Given the description of an element on the screen output the (x, y) to click on. 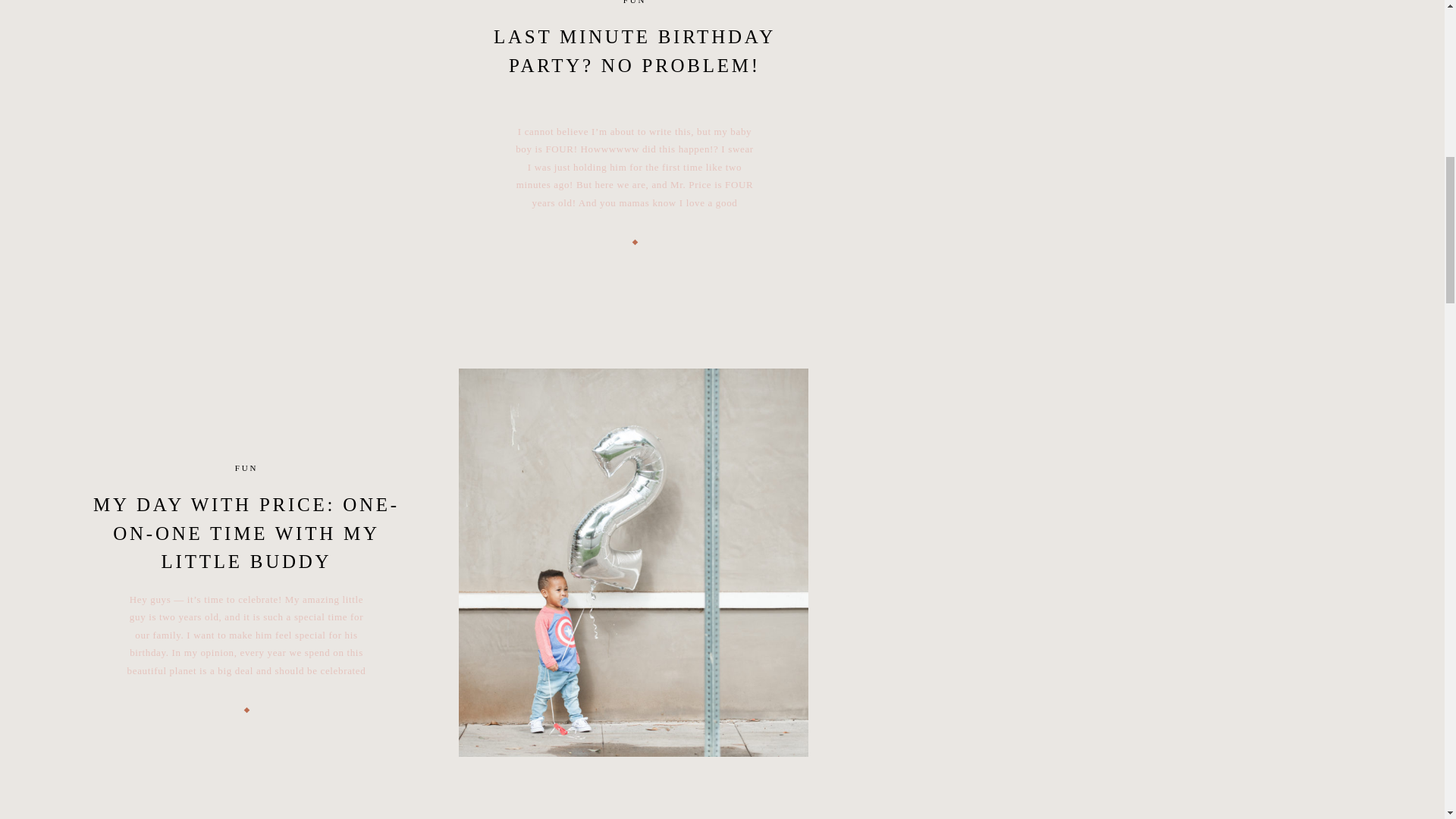
LAST MINUTE BIRTHDAY PARTY? NO PROBLEM! (634, 51)
FUN (245, 467)
FUN (634, 2)
MY DAY WITH PRICE: ONE-ON-ONE TIME WITH MY LITTLE BUDDY (245, 532)
